Given the description of an element on the screen output the (x, y) to click on. 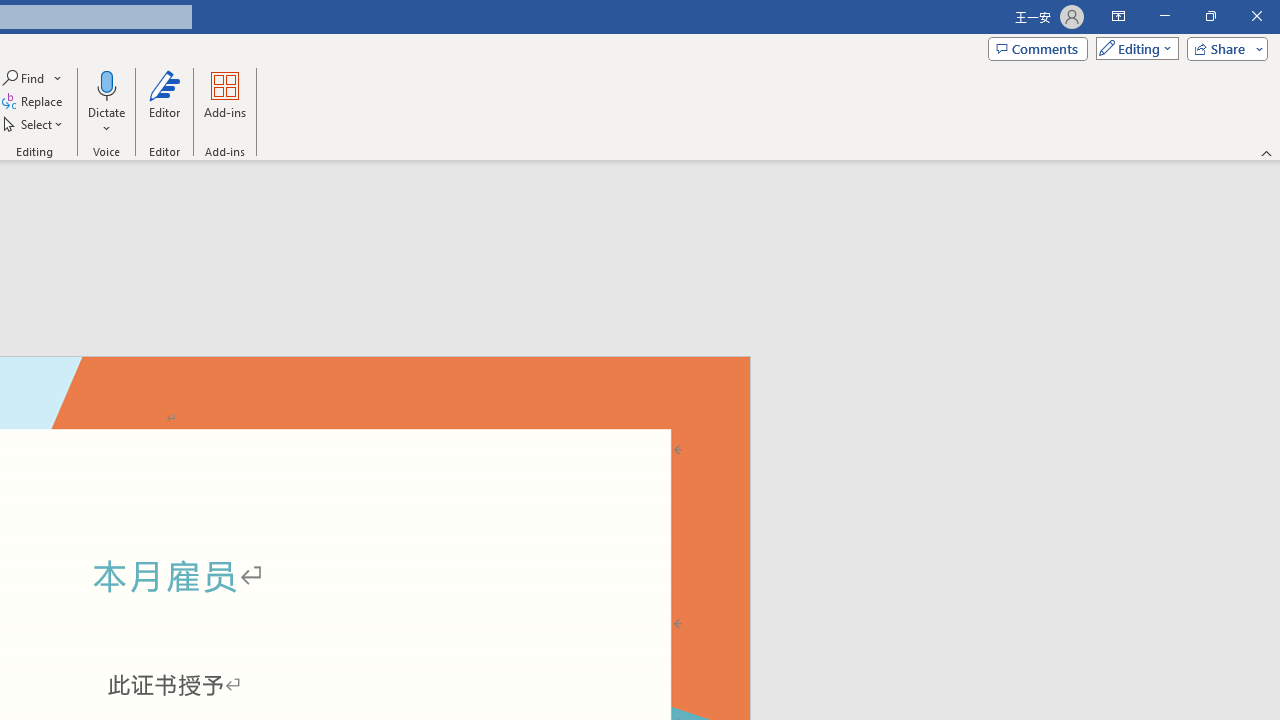
Editor (164, 102)
Collapse the Ribbon (1267, 152)
Mode (1133, 47)
